Given the description of an element on the screen output the (x, y) to click on. 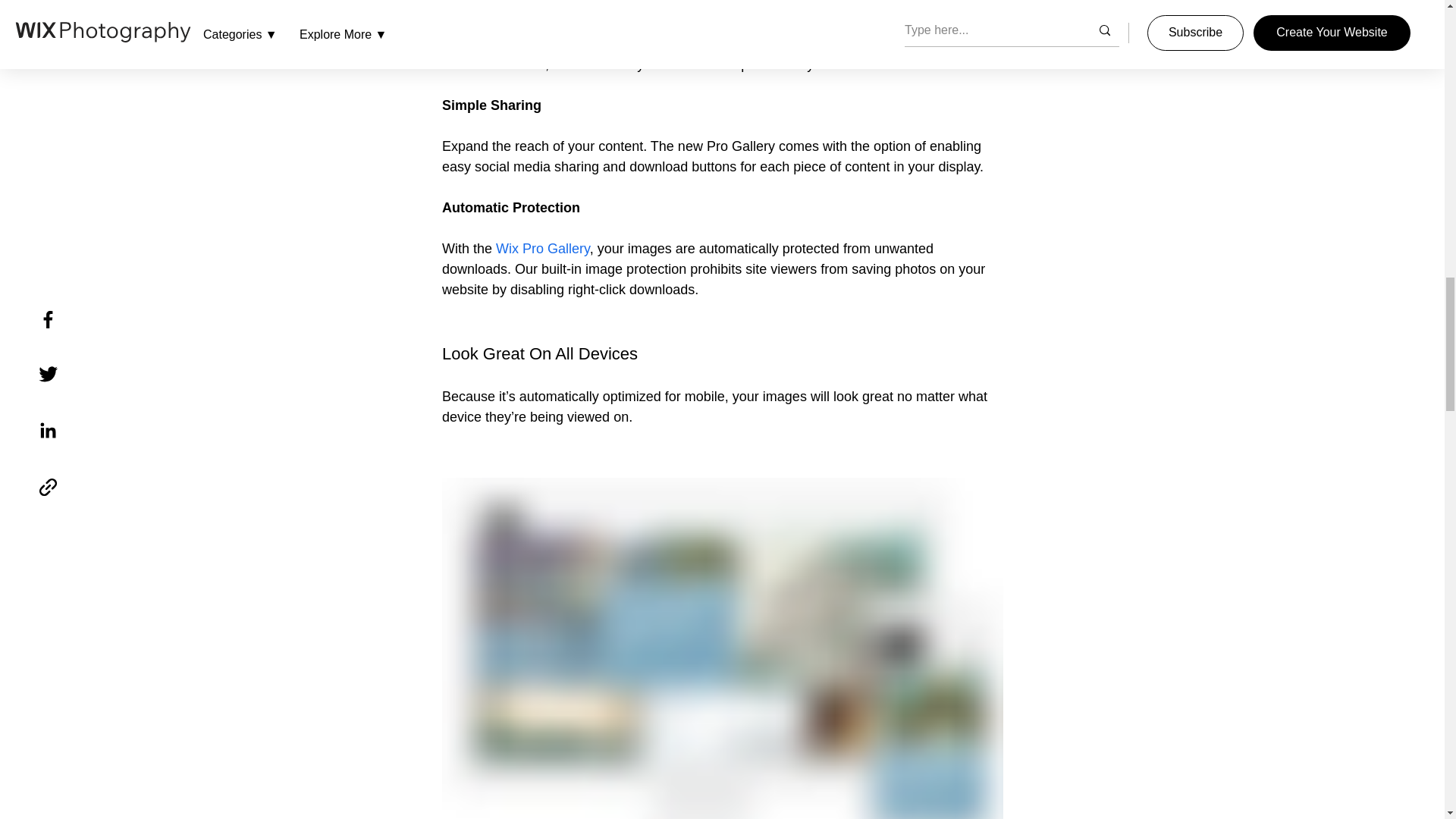
Wix Pro Gallery (542, 248)
